Given the description of an element on the screen output the (x, y) to click on. 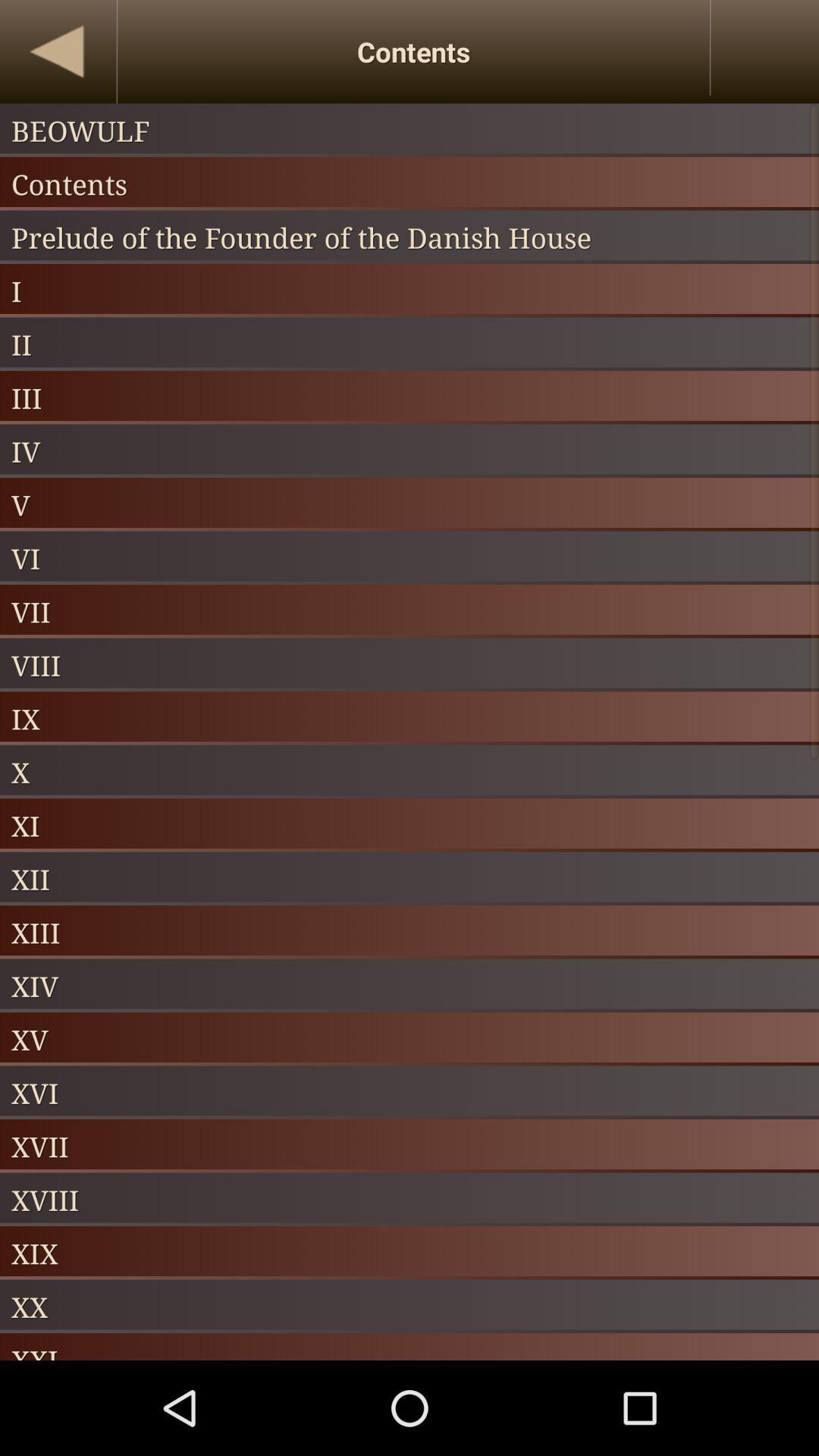
select xvi (409, 1092)
